Given the description of an element on the screen output the (x, y) to click on. 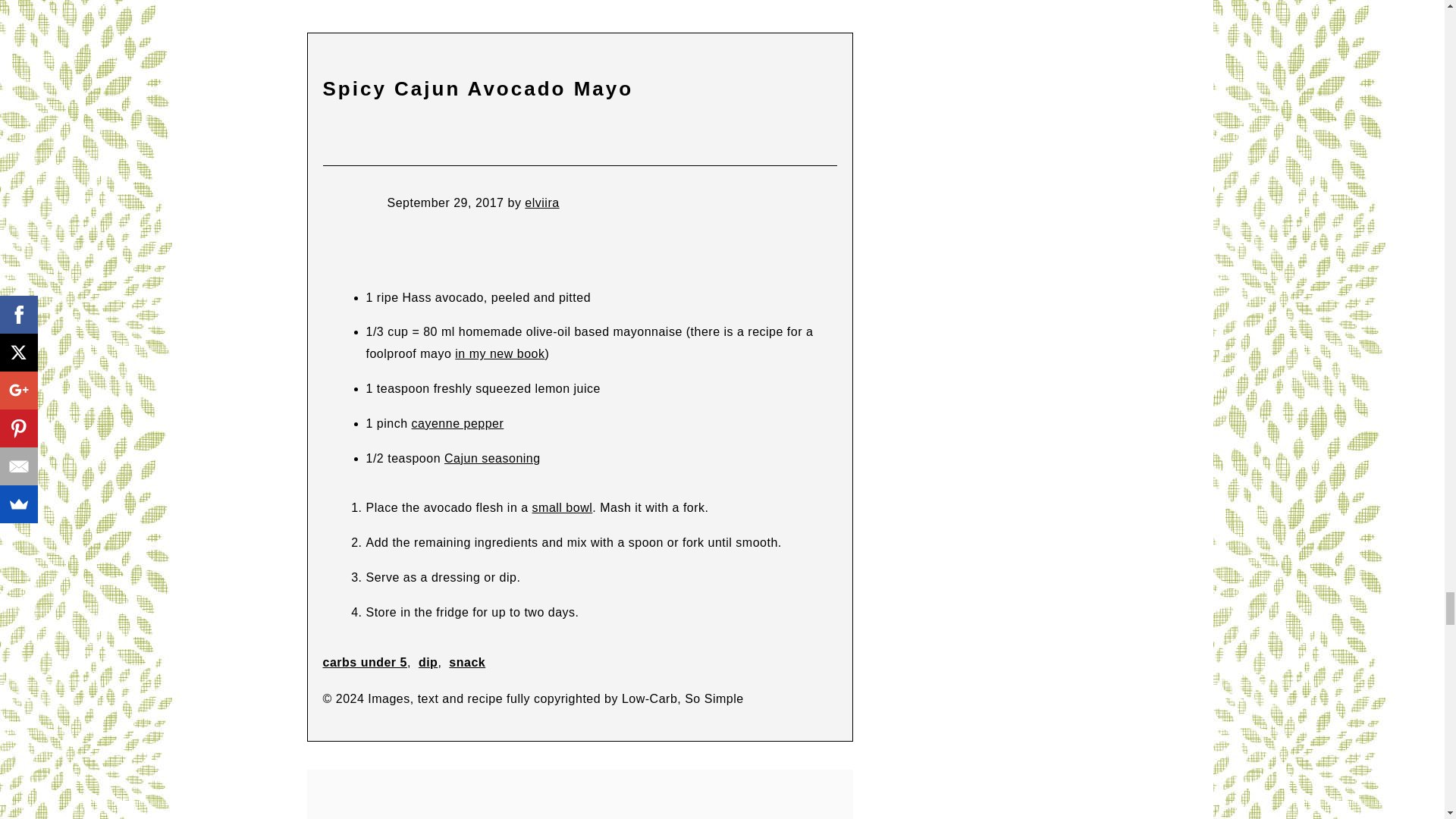
Print this recipe (331, 137)
